Given the description of an element on the screen output the (x, y) to click on. 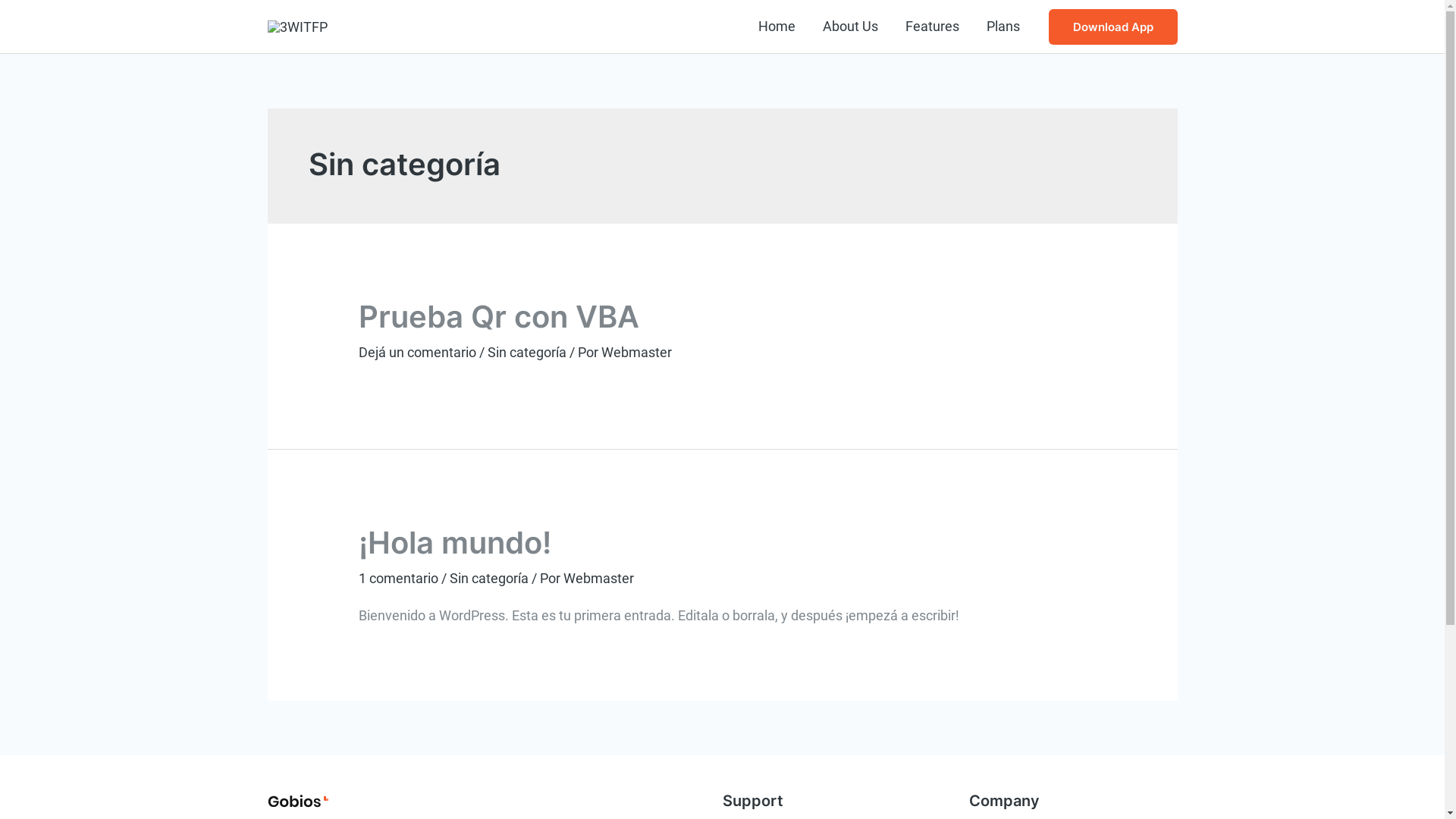
About Us Element type: text (849, 26)
Webmaster Element type: text (598, 578)
Download App Element type: text (1112, 26)
1 comentario Element type: text (398, 578)
Webmaster Element type: text (636, 352)
Features Element type: text (931, 26)
Prueba Qr con VBA Element type: text (498, 316)
Home Element type: text (776, 26)
Plans Element type: text (1002, 26)
